Given the description of an element on the screen output the (x, y) to click on. 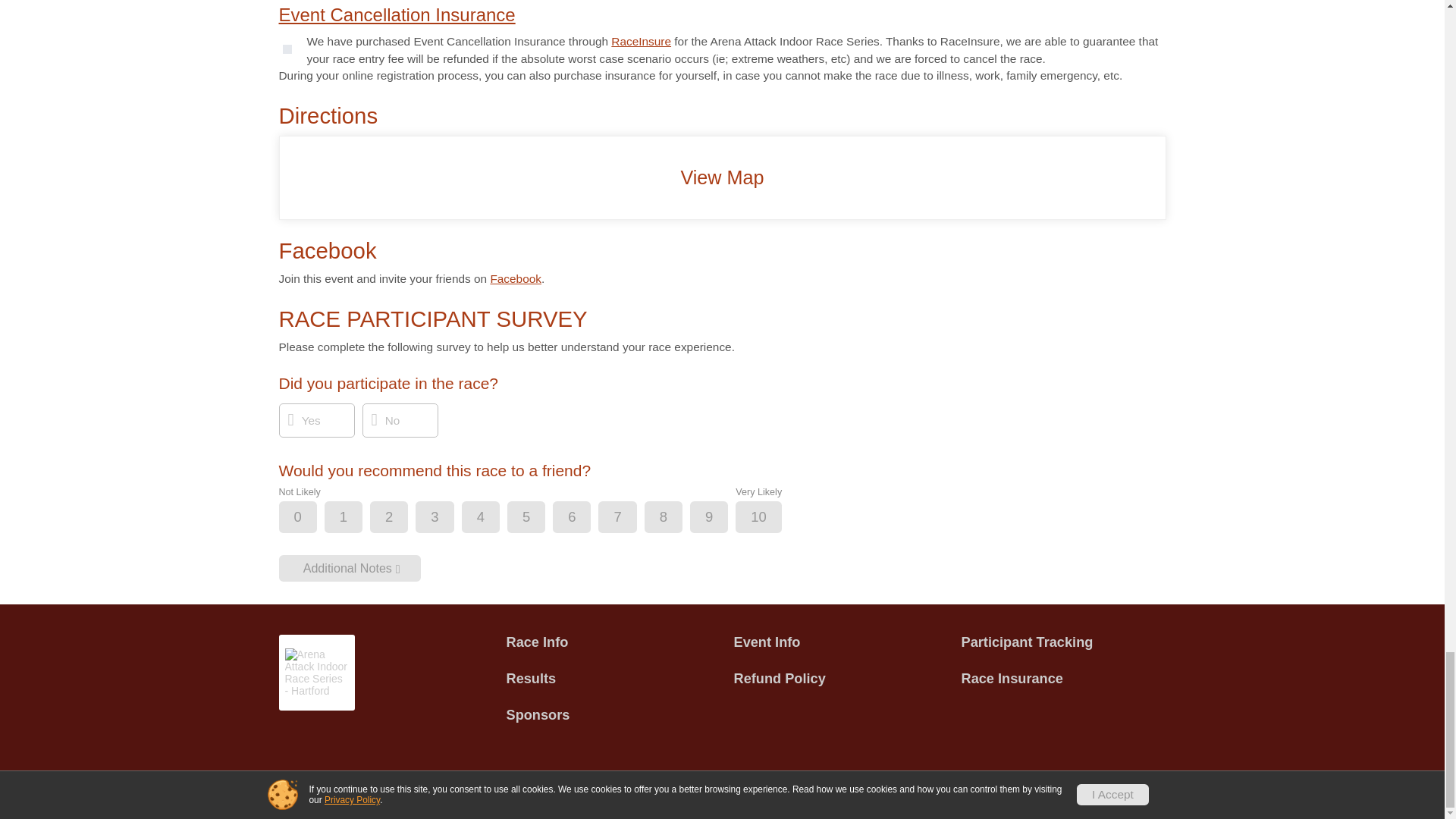
7 (629, 518)
6 (584, 518)
4 (493, 518)
2 (401, 518)
10 (770, 518)
3 (447, 518)
Event Cancellation Insurance (397, 14)
9 (721, 518)
1 (355, 518)
8 (675, 518)
